Given the description of an element on the screen output the (x, y) to click on. 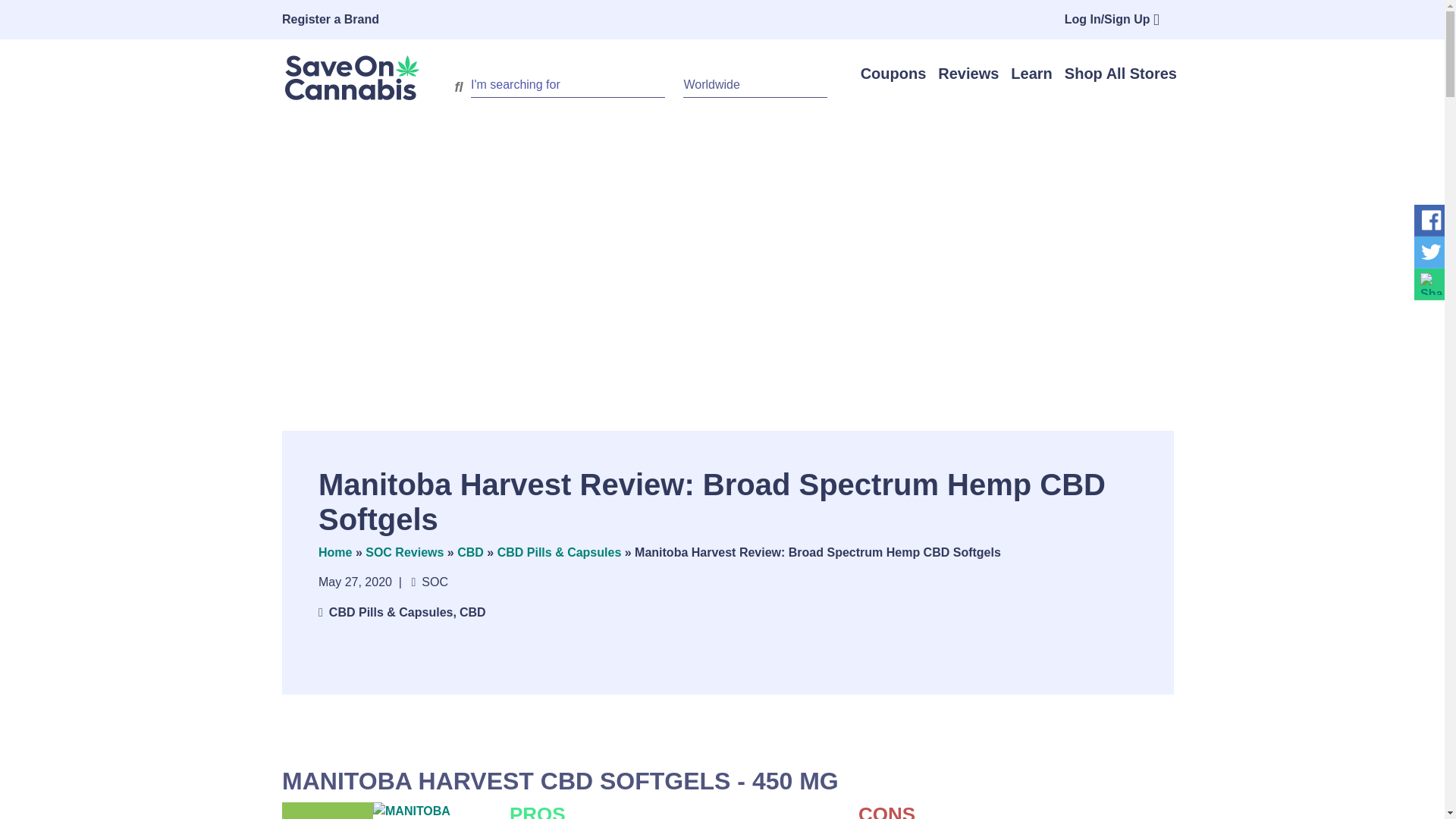
Register a Brand (342, 19)
Coupons (893, 73)
Register a Brand (342, 19)
Worldwide (754, 85)
Worldwide (754, 85)
Coupons (893, 73)
Submit Search (458, 86)
